Given the description of an element on the screen output the (x, y) to click on. 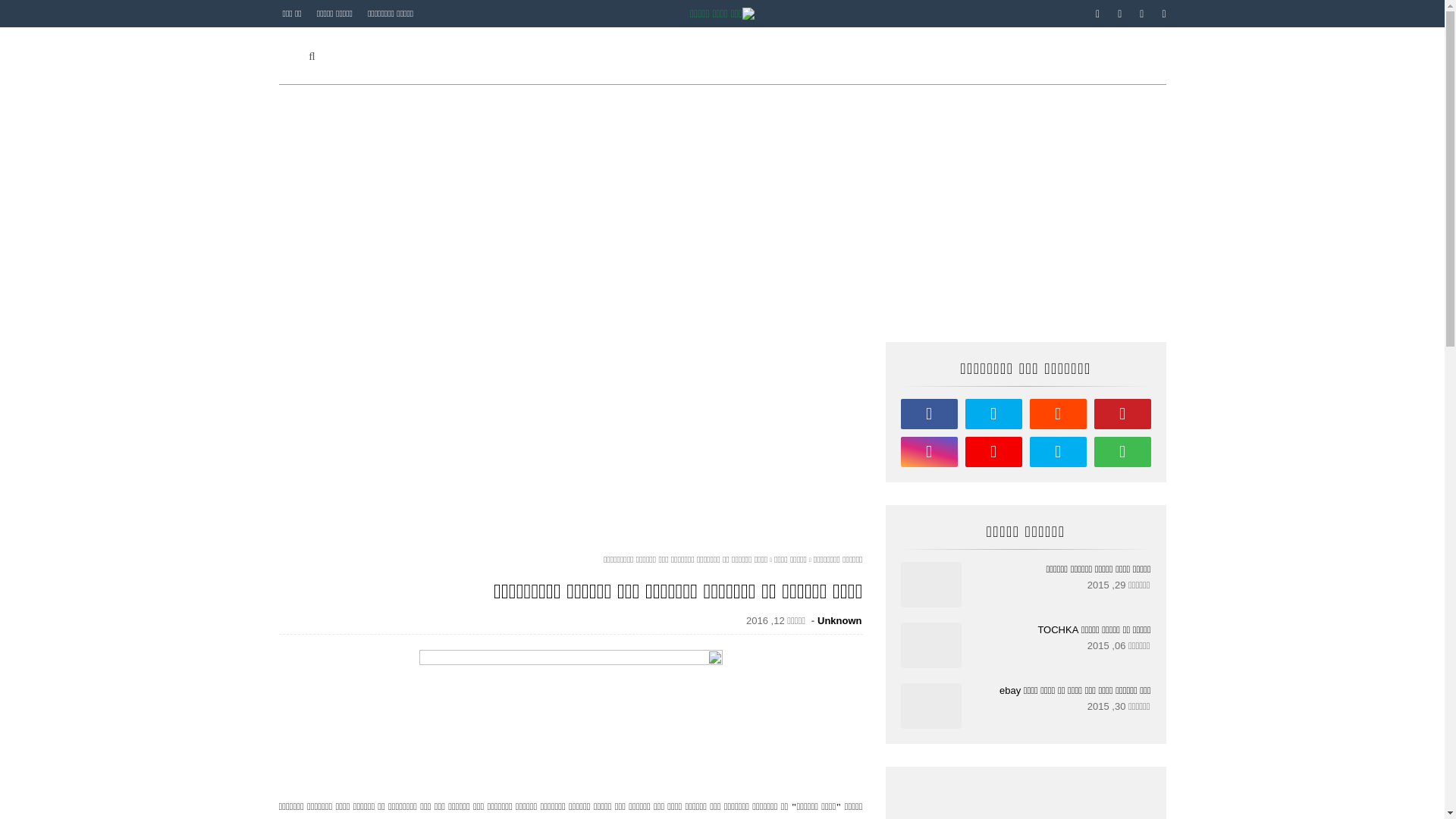
pinterest Element type: hover (1160, 13)
whatsapp Element type: hover (1121, 451)
twitter Element type: hover (992, 413)
pinterest Element type: hover (1121, 413)
skype Element type: hover (1057, 451)
facebook Element type: hover (928, 413)
instagram Element type: hover (928, 451)
facebook Element type: hover (1097, 13)
youtube Element type: hover (992, 451)
Unknown Element type: text (839, 619)
twitter Element type: hover (1119, 13)
instagram Element type: hover (1141, 13)
Advertisement Element type: hover (570, 448)
Advertisement Element type: hover (722, 212)
reddit Element type: hover (1057, 413)
